Given the description of an element on the screen output the (x, y) to click on. 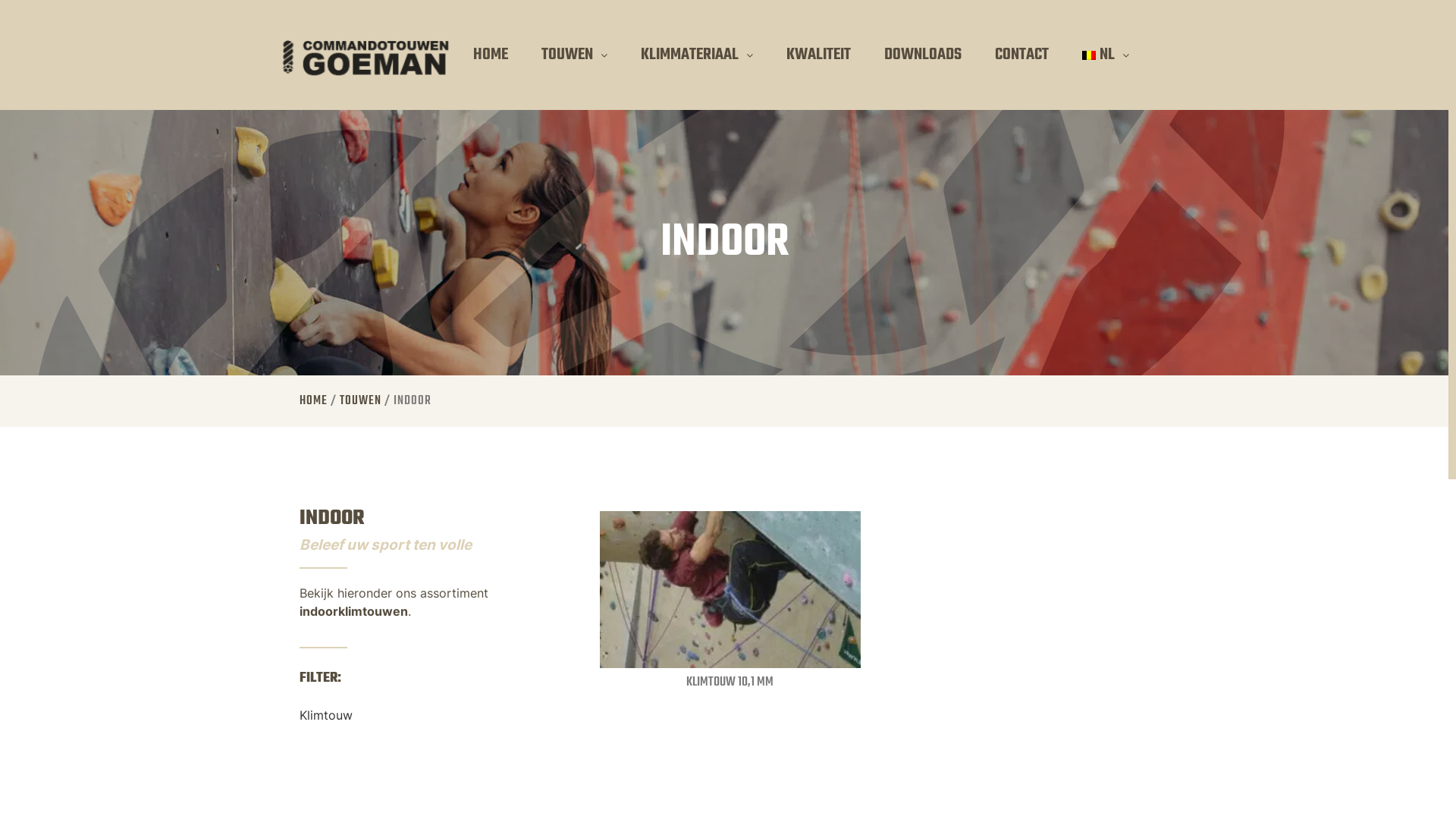
NL Element type: text (1105, 54)
KLIMMATERIAAL Element type: text (696, 54)
TOUWEN Element type: text (574, 54)
CONTACT Element type: text (1021, 54)
HOME Element type: text (313, 401)
TOUWEN Element type: text (360, 401)
KWALITEIT Element type: text (818, 54)
Indoor 1 Element type: hover (730, 589)
KLIMTOUW 10,1 MM Element type: text (729, 681)
DOWNLOADS Element type: text (922, 54)
HOME Element type: text (490, 54)
